Given the description of an element on the screen output the (x, y) to click on. 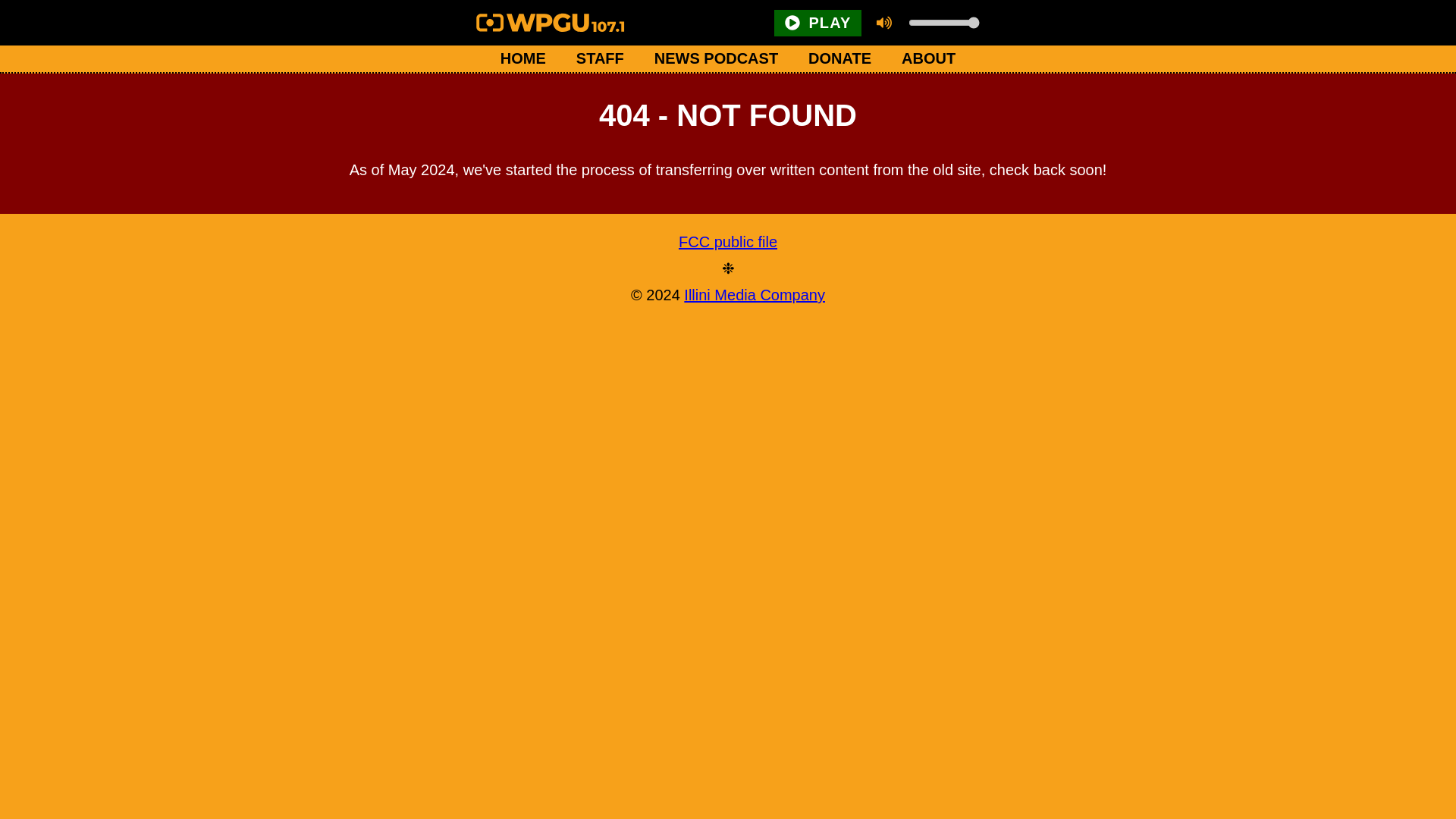
1 (943, 22)
ABOUT (928, 58)
PLAY (817, 22)
HOME (522, 58)
DONATE (839, 58)
NEWS PODCAST (716, 58)
Illini Media Company (754, 294)
STAFF (599, 58)
FCC public file (727, 242)
